Given the description of an element on the screen output the (x, y) to click on. 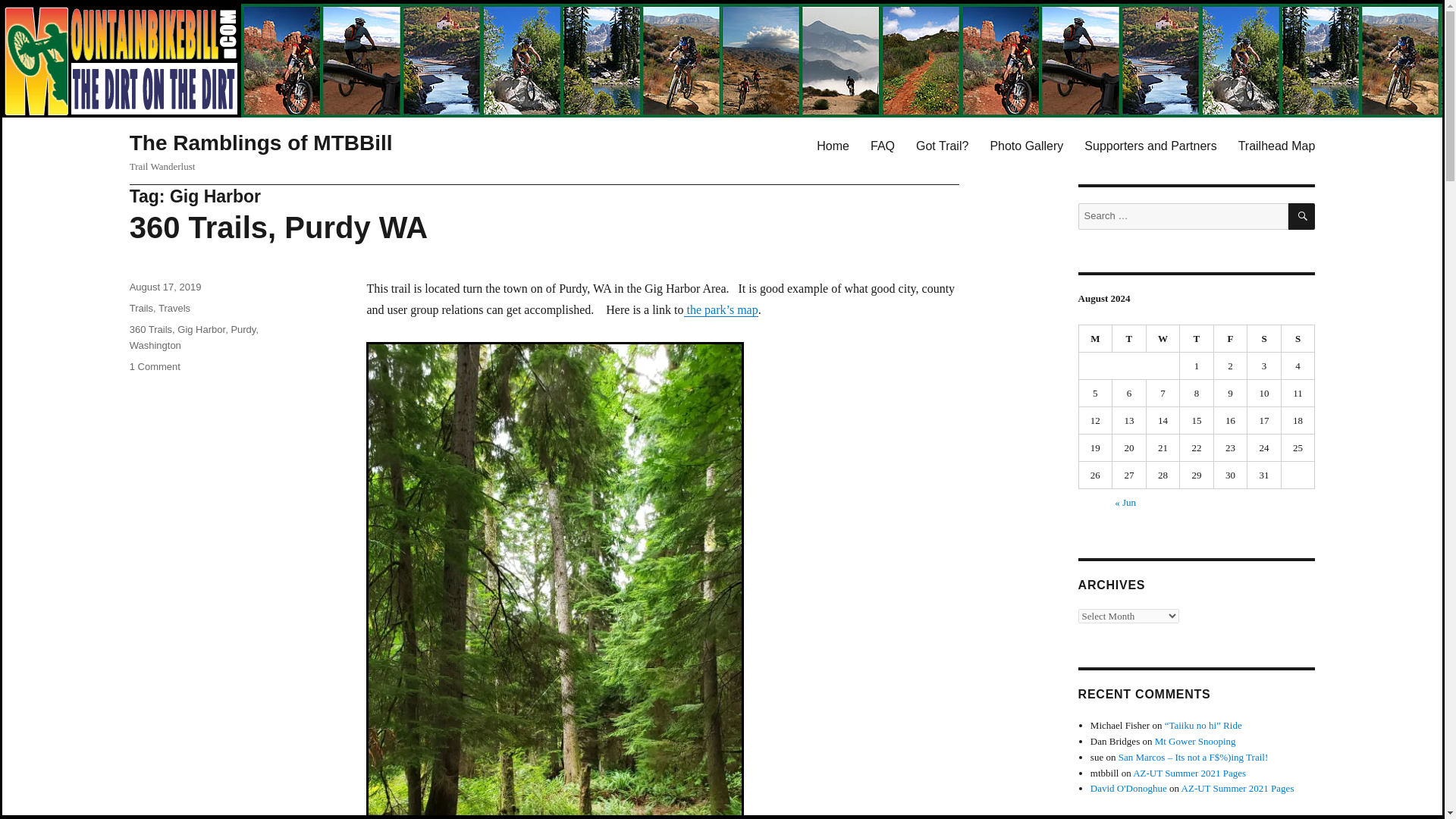
360 Trails (150, 328)
Sunday (1298, 338)
The Ramblings of MTBBill (261, 142)
Saturday (1264, 338)
SEARCH (1301, 216)
FAQ (882, 145)
Purdy (243, 328)
Trailhead Map (1276, 145)
August 17, 2019 (165, 286)
Trails (140, 307)
